Given the description of an element on the screen output the (x, y) to click on. 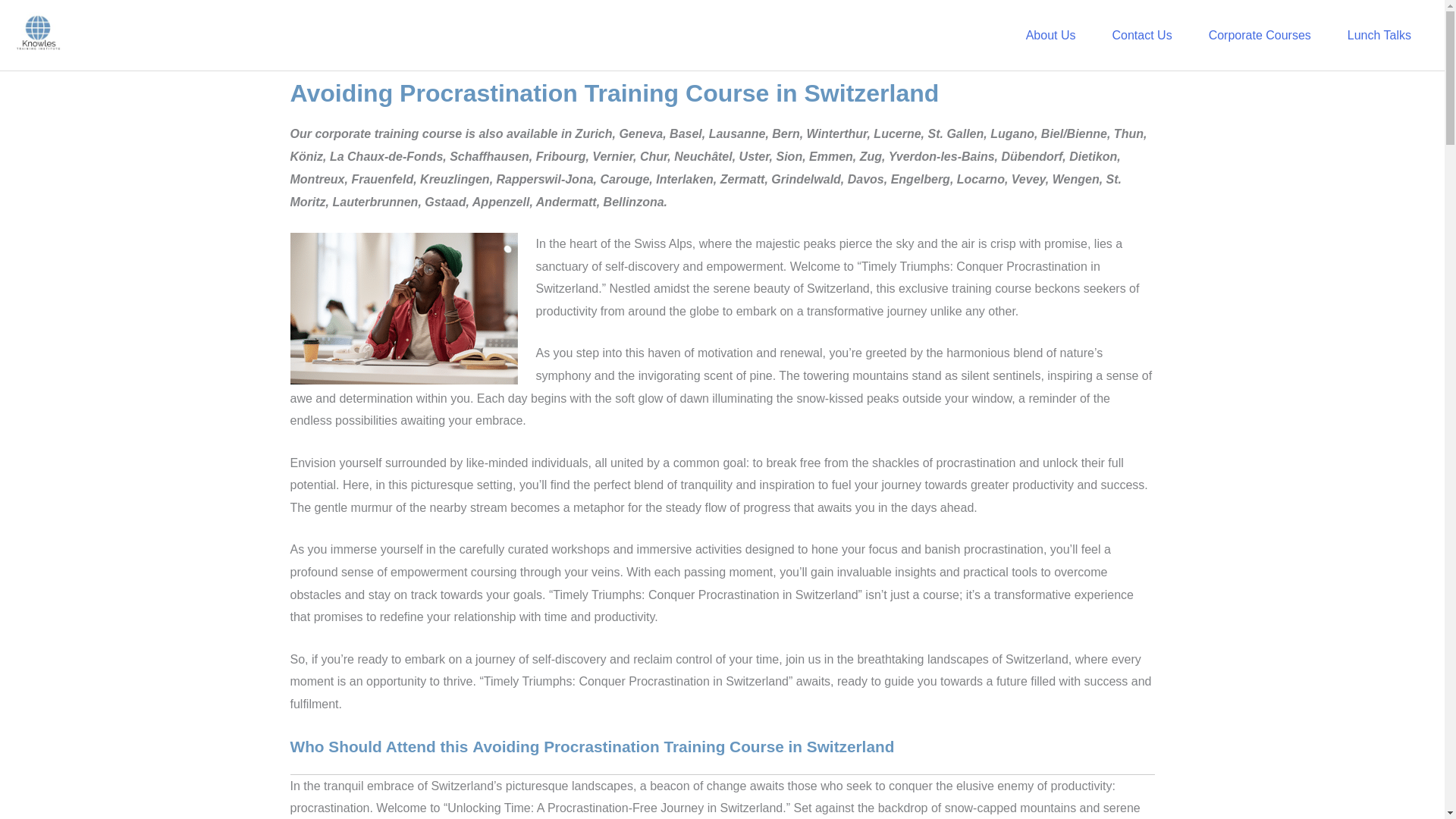
About Us (1050, 34)
Corporate Courses (1260, 34)
Lunch Talks (1379, 34)
Contact Us (1141, 34)
